Given the description of an element on the screen output the (x, y) to click on. 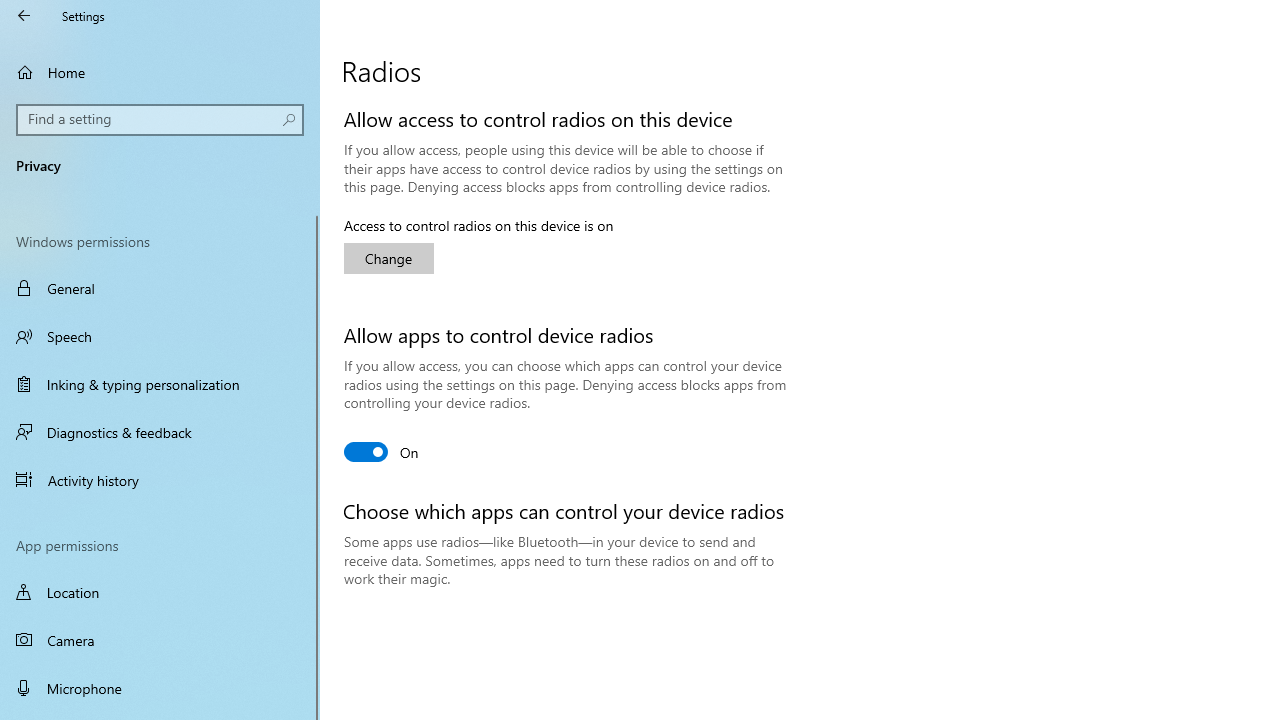
Allow apps to control device radios (381, 452)
Back (24, 15)
Activity history (160, 479)
Search box, Find a setting (160, 119)
Microphone (160, 687)
Speech (160, 335)
Diagnostics & feedback (160, 431)
Inking & typing personalization (160, 384)
Location (160, 592)
General (160, 287)
Camera (160, 639)
Home (160, 71)
Change (388, 258)
